Given the description of an element on the screen output the (x, y) to click on. 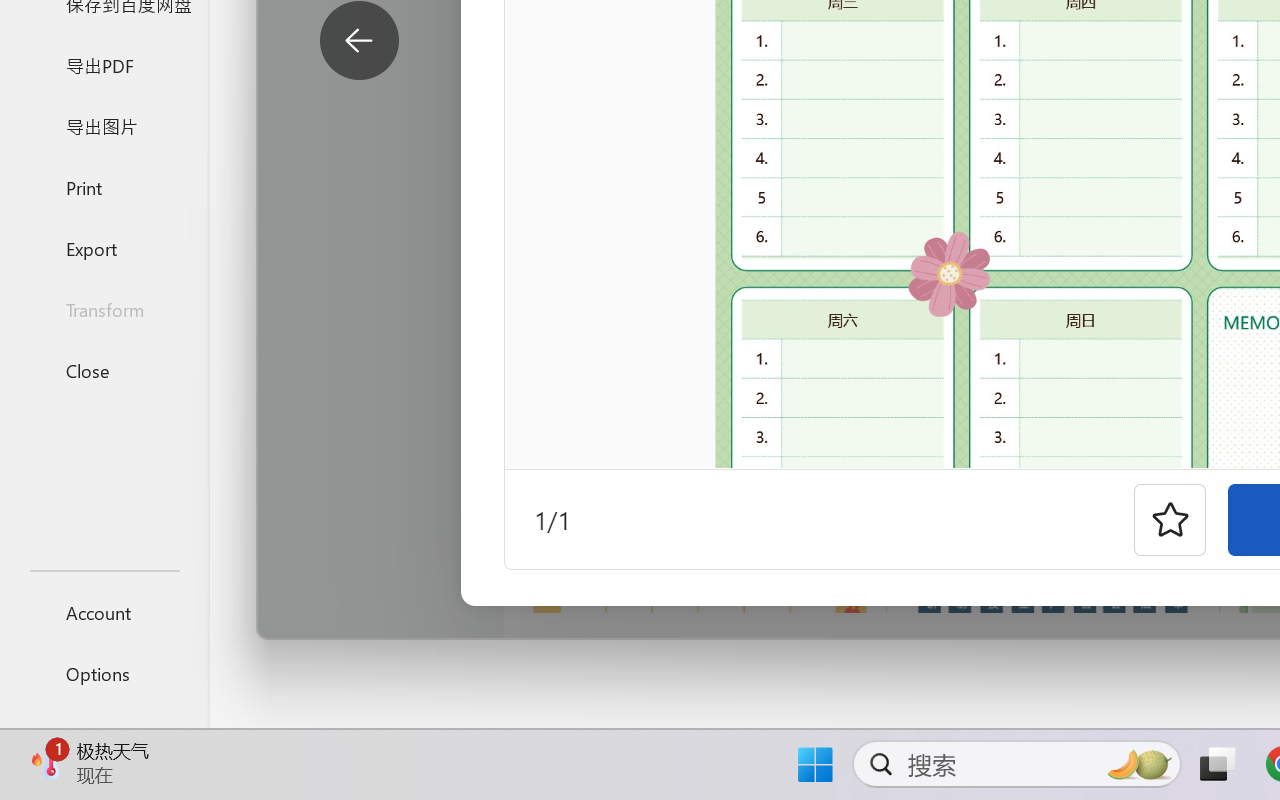
Export (104, 248)
Options (104, 673)
Account (104, 612)
Transform (104, 309)
